Given the description of an element on the screen output the (x, y) to click on. 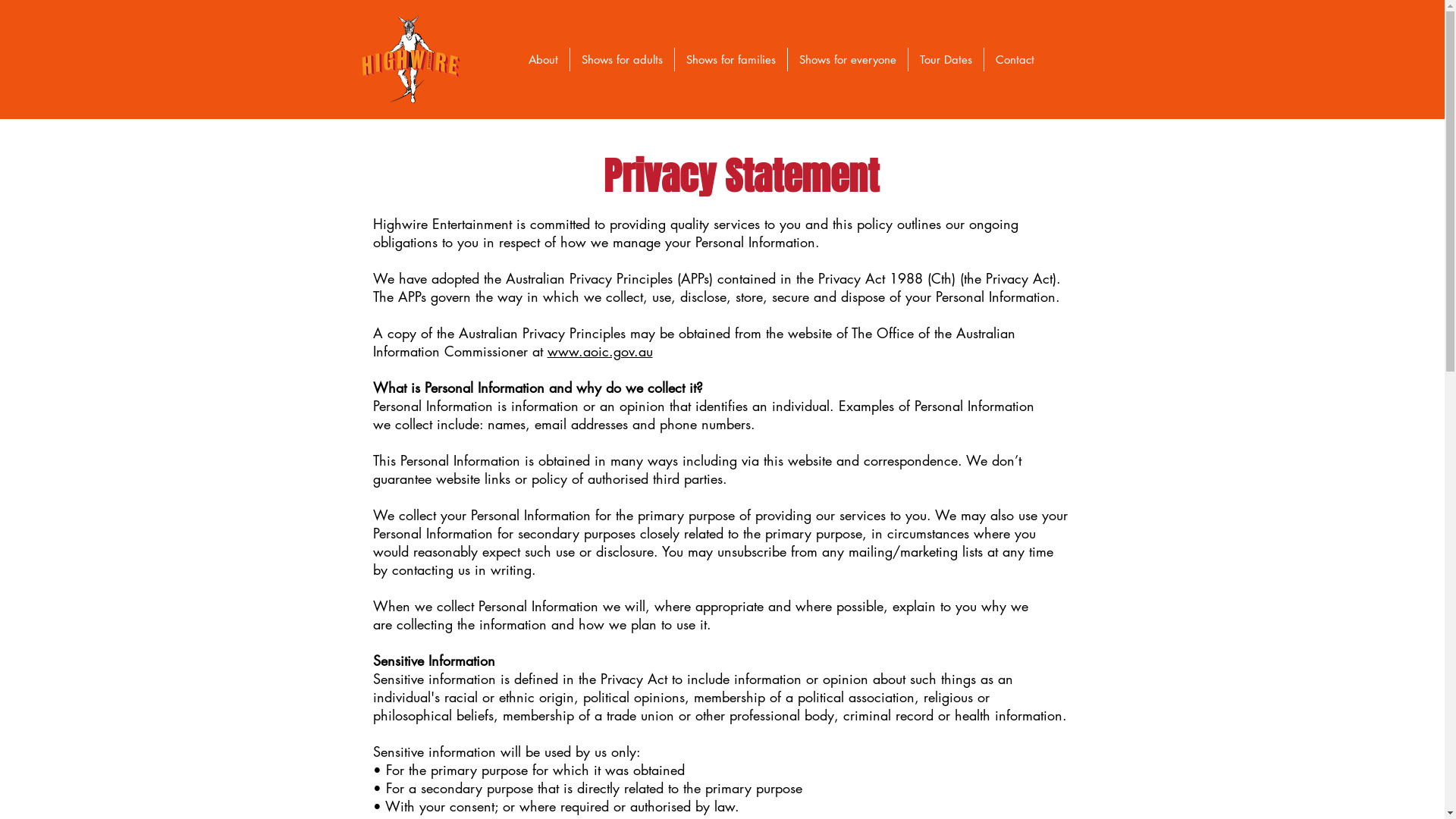
About Element type: text (543, 59)
www.aoic.gov.au Element type: text (599, 351)
Contact Element type: text (1014, 59)
Highwire_LOGO_HIGHWIRE.png Element type: hover (410, 59)
Tour Dates Element type: text (945, 59)
